Given the description of an element on the screen output the (x, y) to click on. 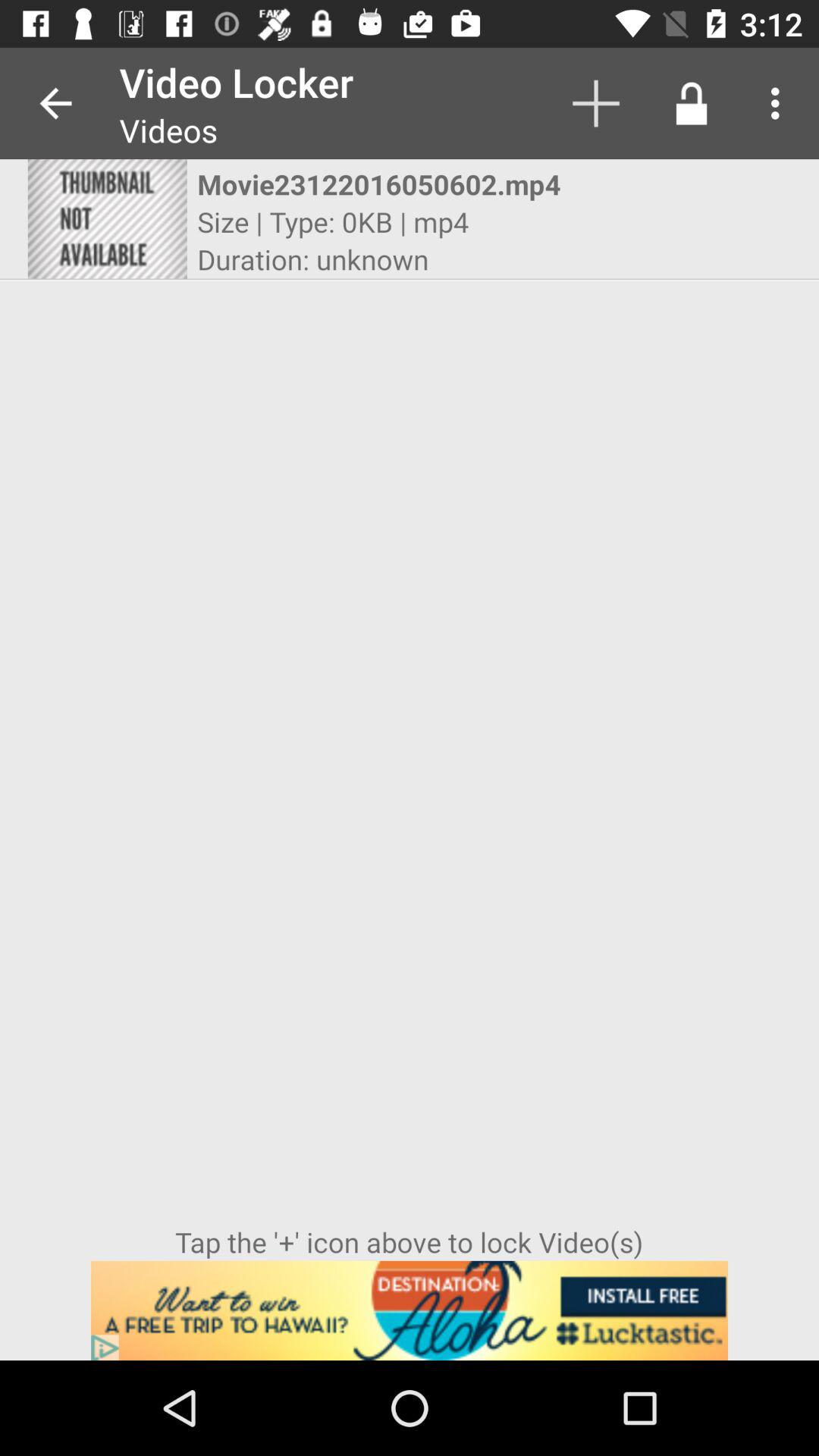
click icon above tap the icon (312, 259)
